Given the description of an element on the screen output the (x, y) to click on. 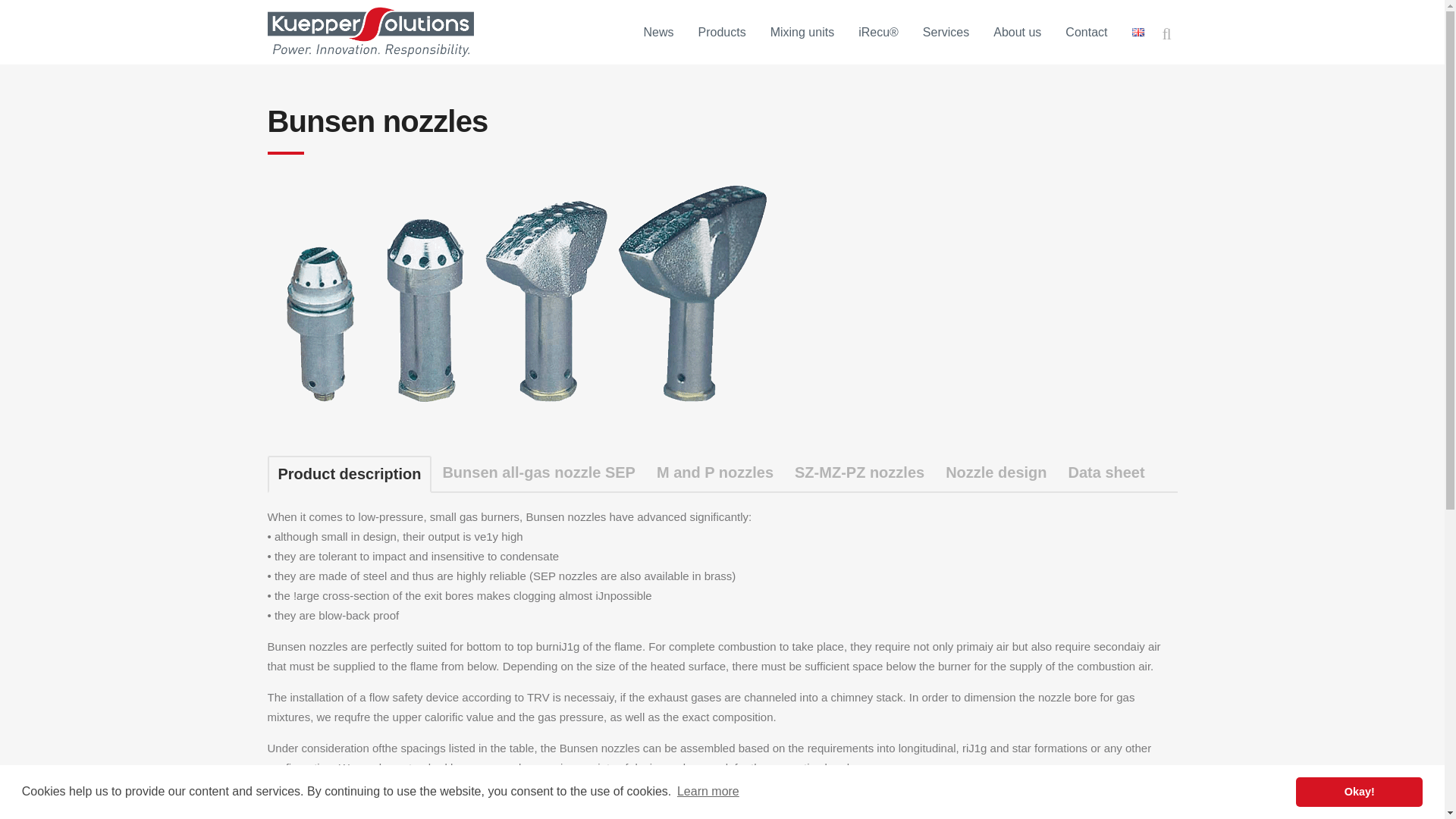
SZ-MZ-PZ nozzles (859, 472)
News (658, 32)
Bunsen all-gas nozzle SEP (538, 472)
Contact (1086, 32)
Products (721, 32)
Learn more (708, 791)
About us (1016, 32)
Services (946, 32)
Product description (348, 474)
Mixing units (801, 32)
Data sheet (1105, 472)
M and P nozzles (715, 472)
Nozzle design (995, 472)
Okay! (1358, 791)
